Given the description of an element on the screen output the (x, y) to click on. 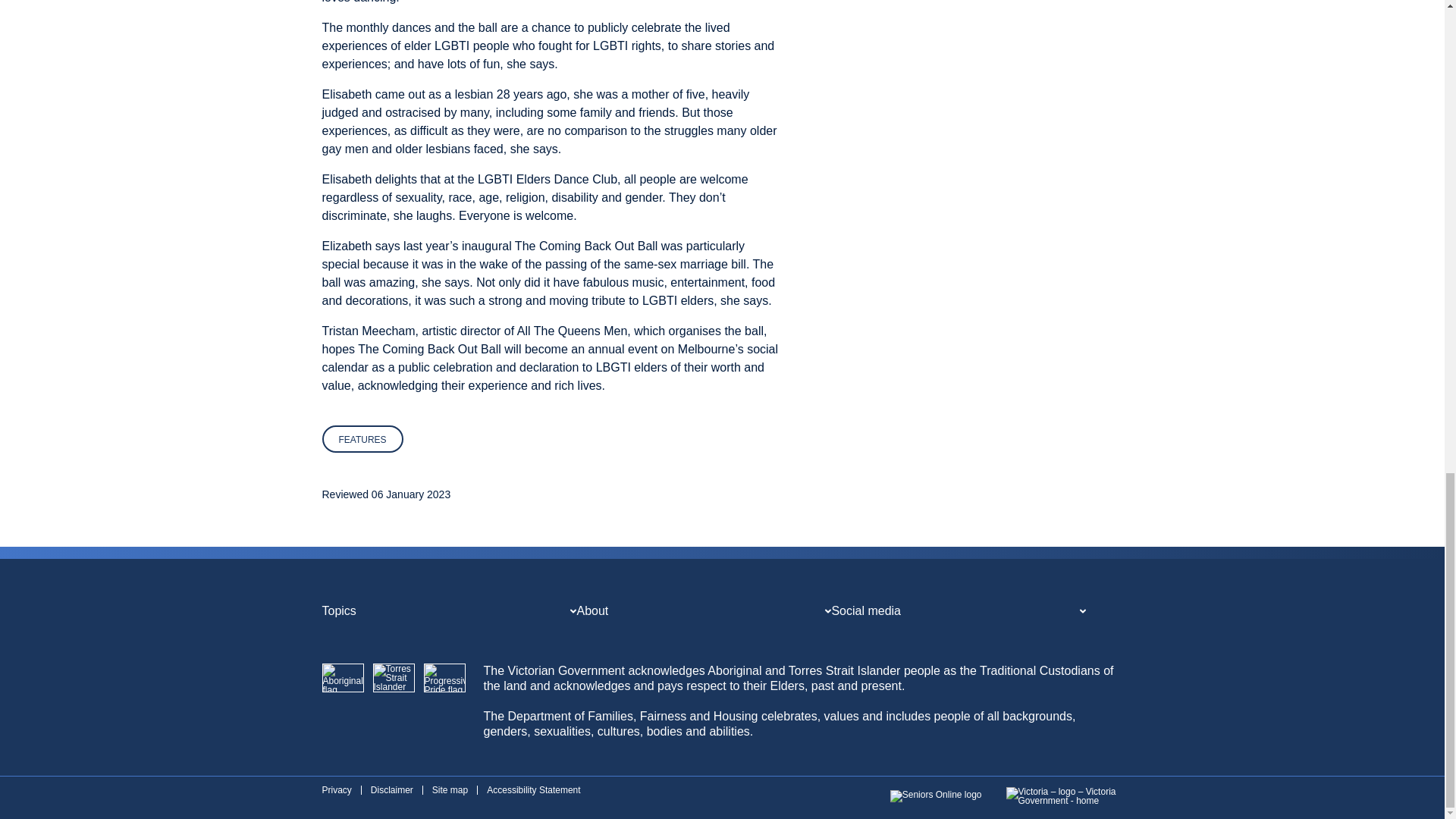
About (592, 610)
Accessibility Statement (532, 789)
Site map (449, 789)
Topics (338, 610)
Privacy (335, 789)
Disclaimer (392, 789)
Social media (866, 610)
FEATURES (362, 438)
